Given the description of an element on the screen output the (x, y) to click on. 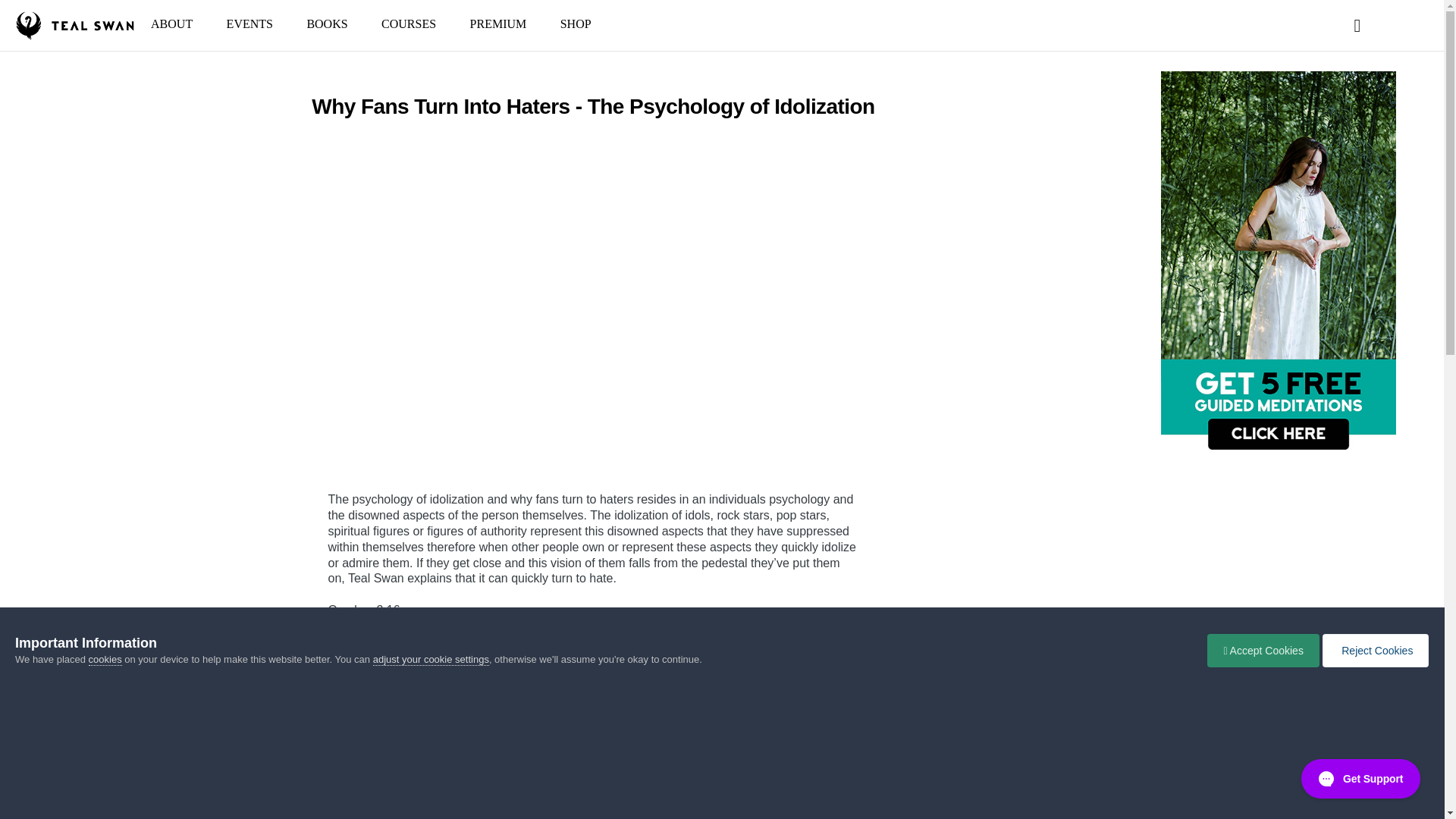
SHOP (575, 23)
BOOKS (326, 23)
COURSES (408, 23)
PREMIUM (497, 23)
Gorgias live chat messenger (1361, 778)
ABOUT (171, 23)
EVENTS (249, 23)
